Given the description of an element on the screen output the (x, y) to click on. 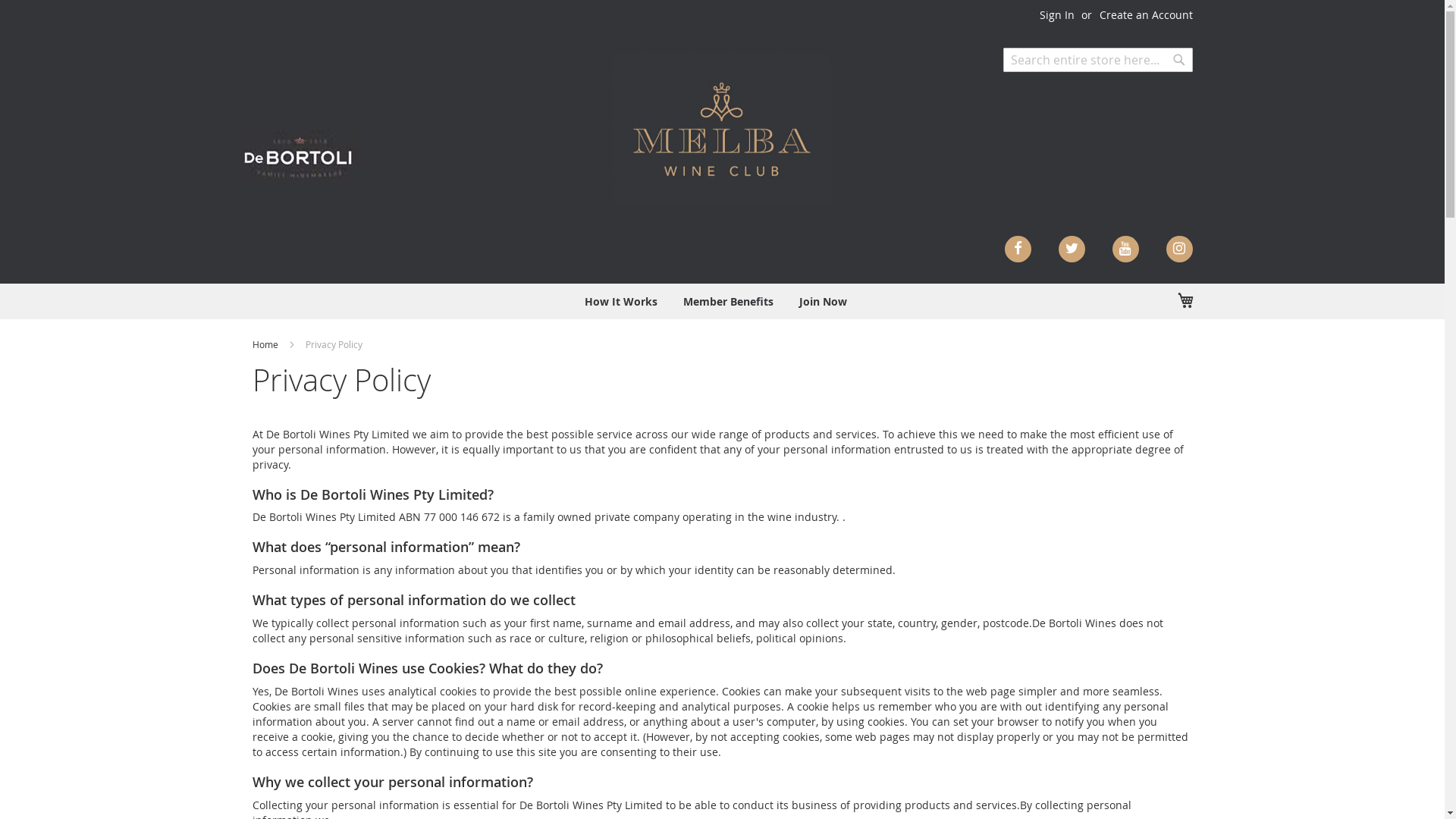
Search Element type: text (1178, 59)
Create an Account Element type: text (1145, 14)
Join Now Element type: text (823, 301)
Member Benefits Element type: text (728, 301)
How It Works Element type: text (620, 301)
My Cart Element type: text (1184, 299)
Skip to Content Element type: text (721, 6)
Melba Wine Club Element type: hover (721, 129)
Home Element type: text (265, 344)
Sign In Element type: text (1055, 14)
